Given the description of an element on the screen output the (x, y) to click on. 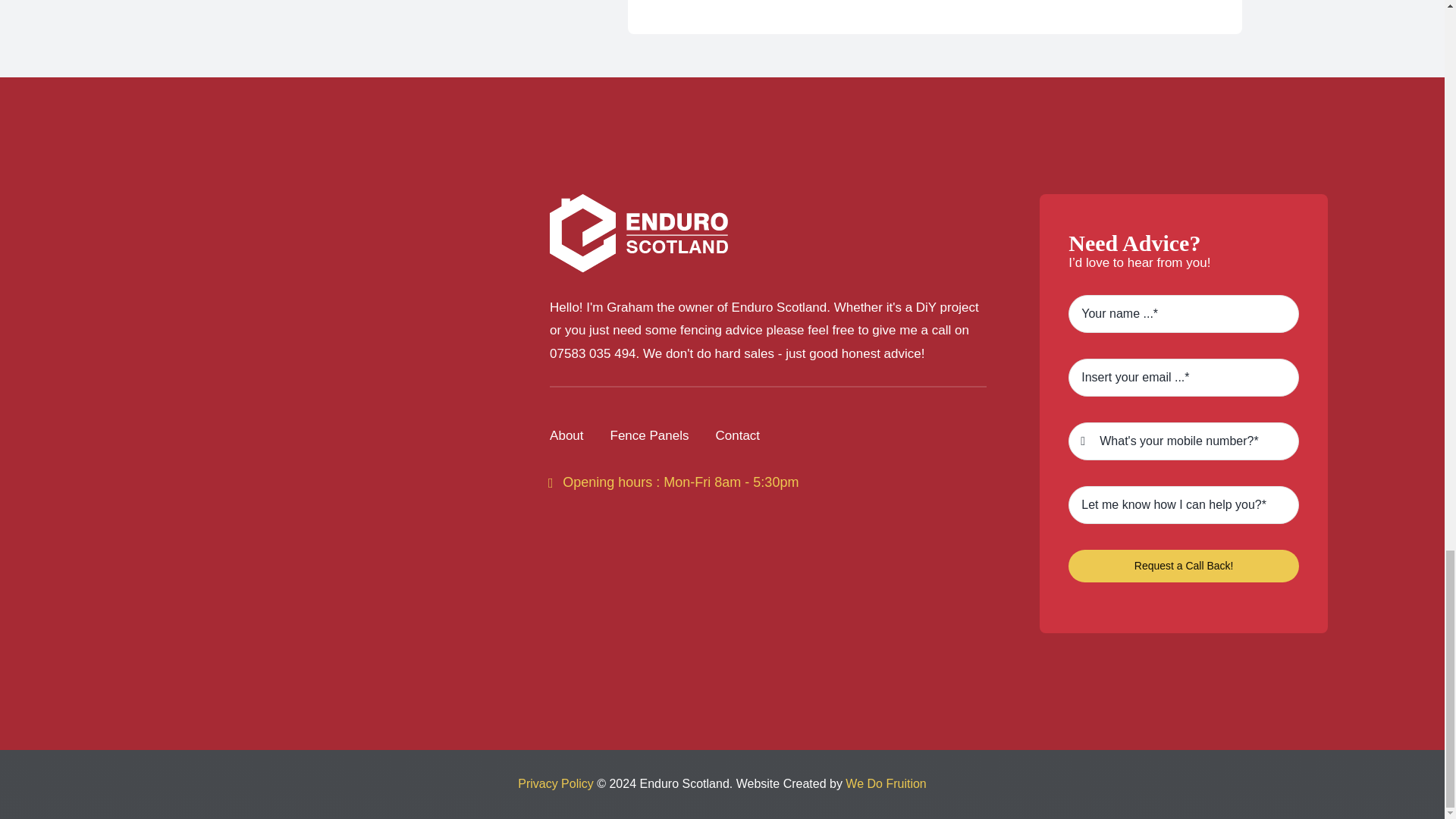
We Do Fruition (885, 783)
Request a Call Back! (1183, 565)
Privacy Policy (556, 783)
About (566, 436)
Contact (737, 436)
Fence Panels (649, 436)
Opening hours : Mon-Fri 8am - 5:30pm (673, 482)
